Given the description of an element on the screen output the (x, y) to click on. 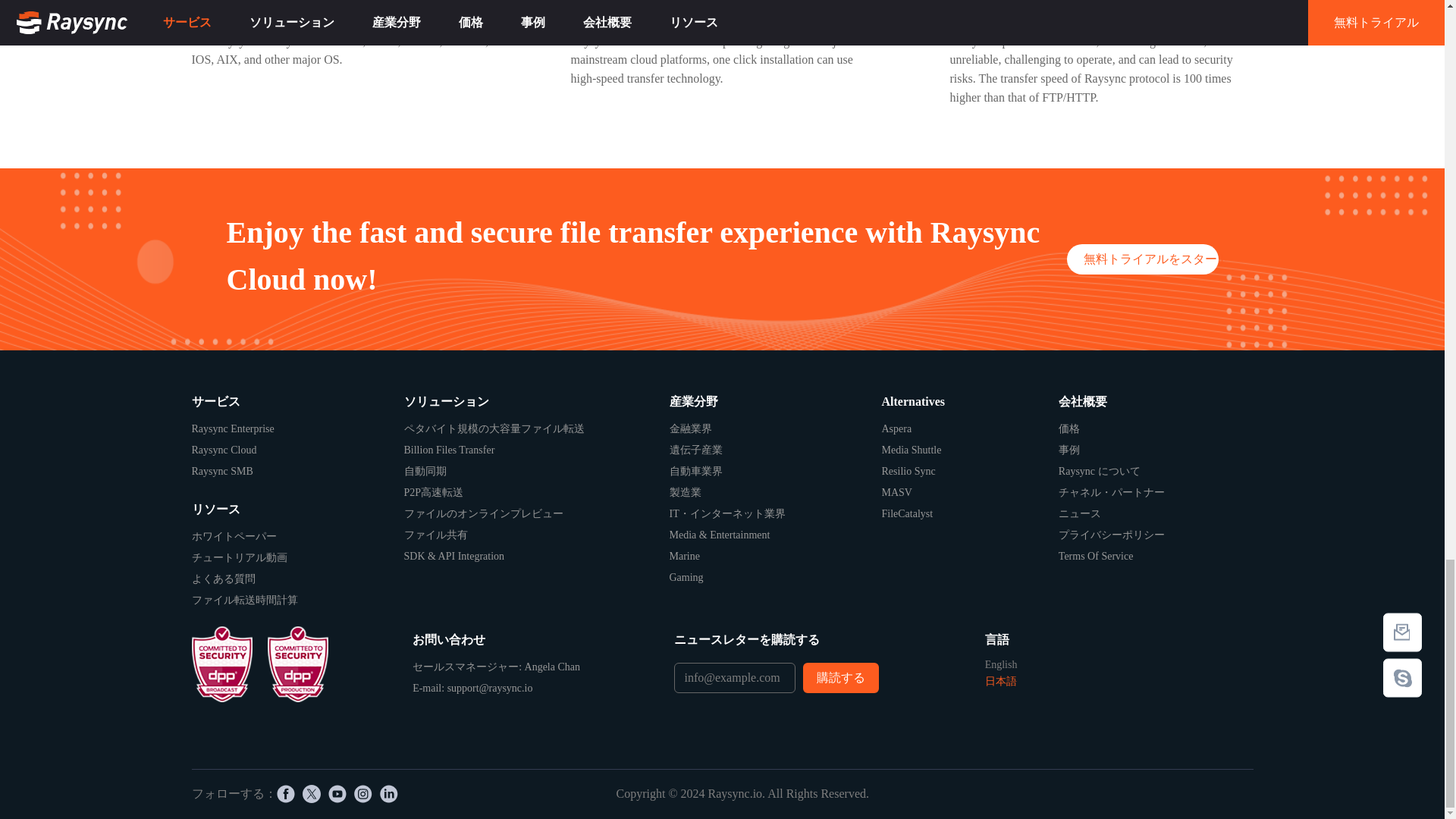
Raysync Enterprise (296, 428)
Raysync SMB (296, 471)
Raysync Cloud (296, 450)
